Given the description of an element on the screen output the (x, y) to click on. 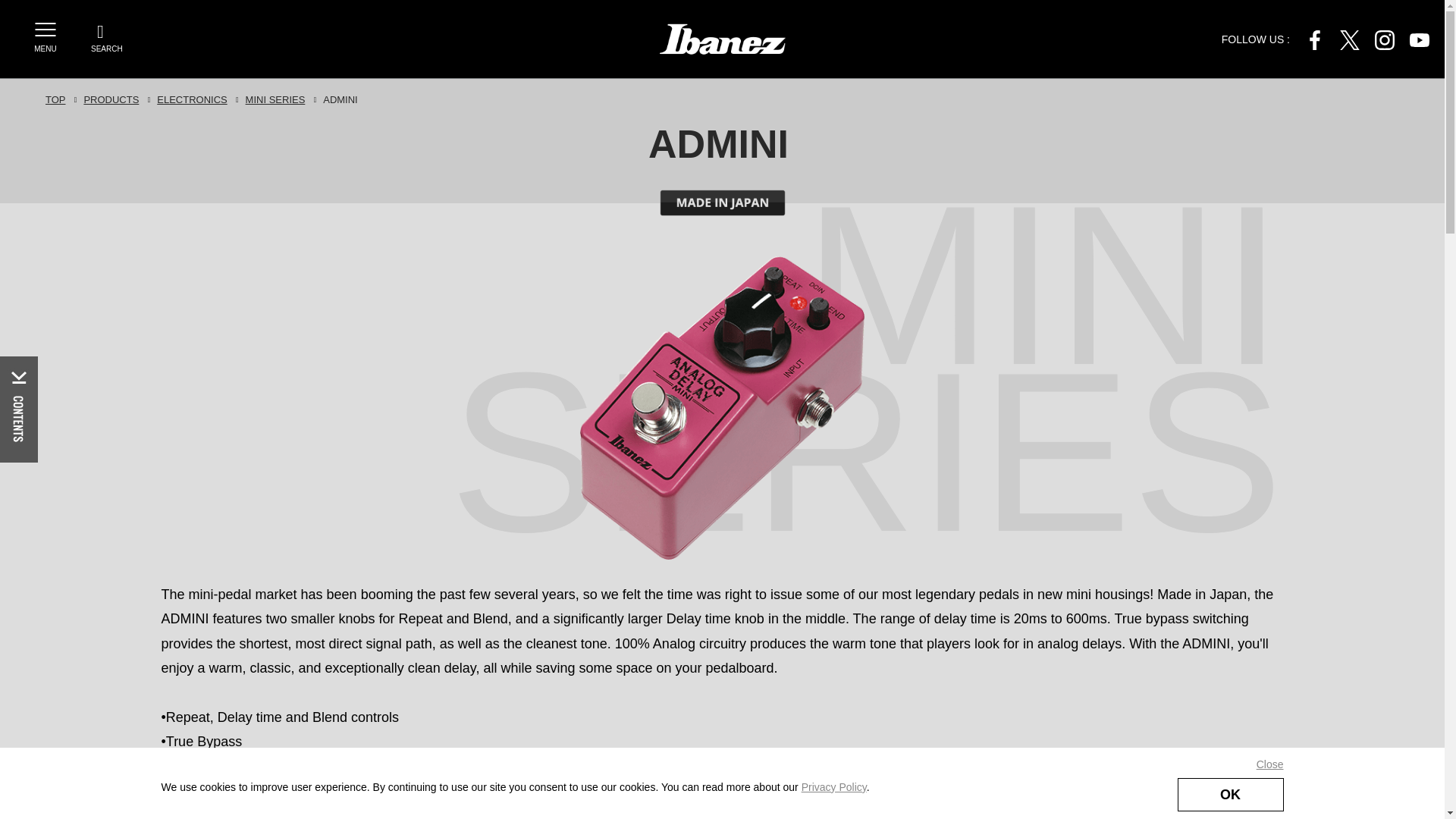
Close (1270, 764)
Privacy Policy (834, 787)
OK (1229, 794)
